Given the description of an element on the screen output the (x, y) to click on. 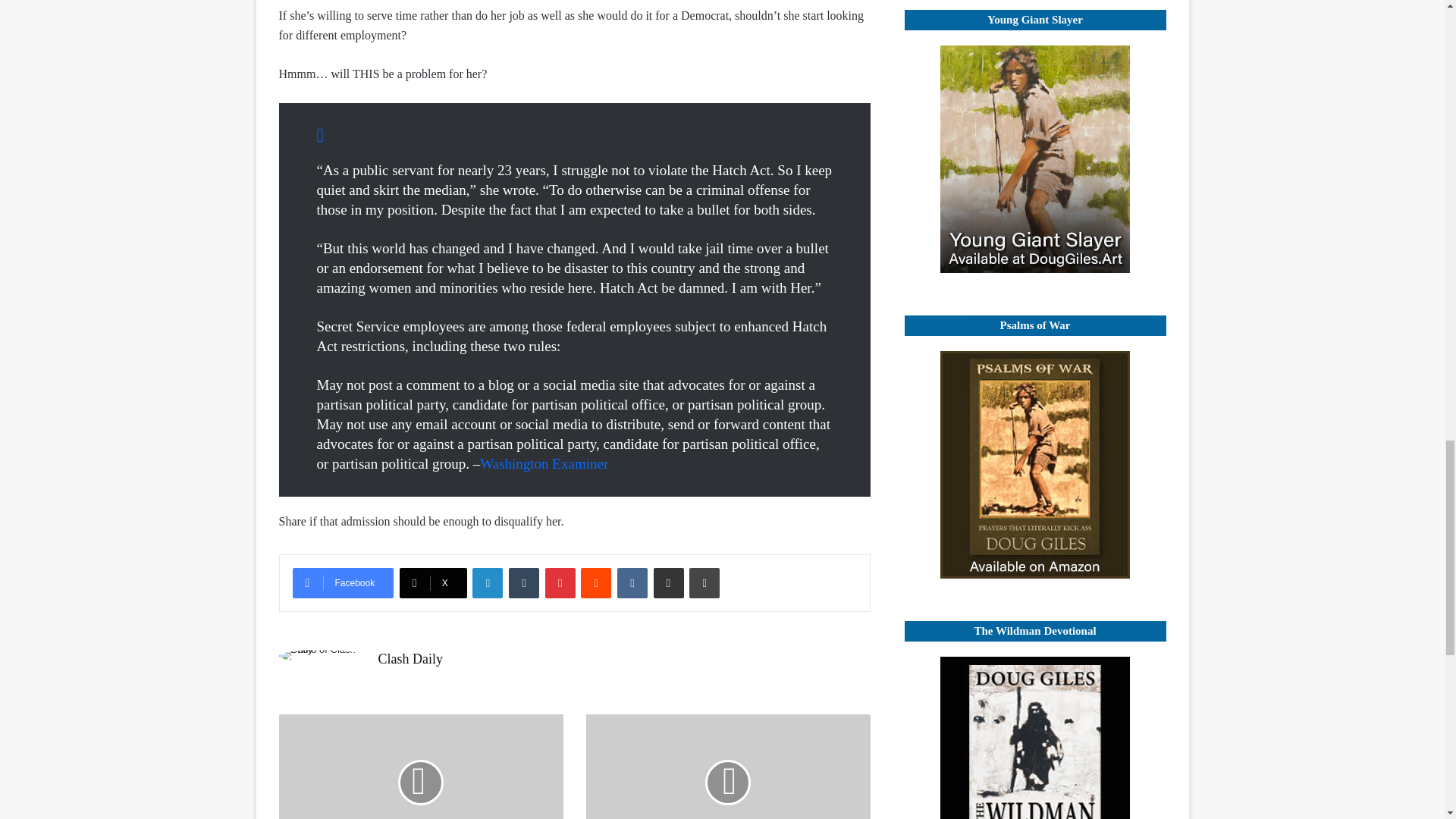
Share via Email (668, 583)
Washington Examiner (544, 463)
Facebook (343, 583)
VKontakte (632, 583)
Print (703, 583)
Tumblr (523, 583)
Facebook (343, 583)
Share via Email (668, 583)
X (432, 583)
Clash Daily (409, 658)
